Given the description of an element on the screen output the (x, y) to click on. 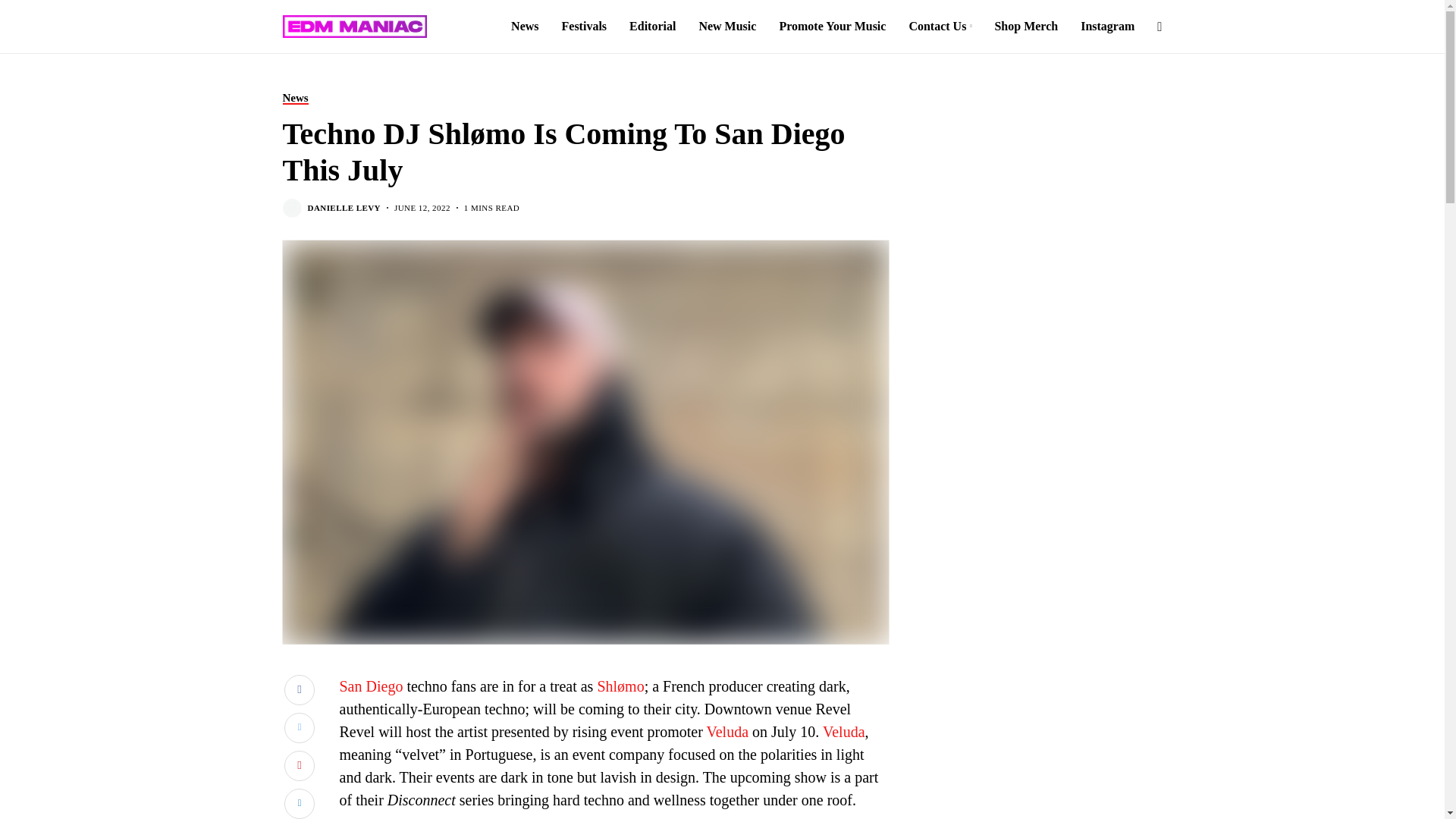
Posts by Danielle Levy (344, 207)
New Music (726, 26)
Shop Merch (1026, 26)
Instagram (1107, 26)
Promote Your Music (831, 26)
News (294, 97)
DANIELLE LEVY (344, 207)
Contact Us (939, 26)
